Given the description of an element on the screen output the (x, y) to click on. 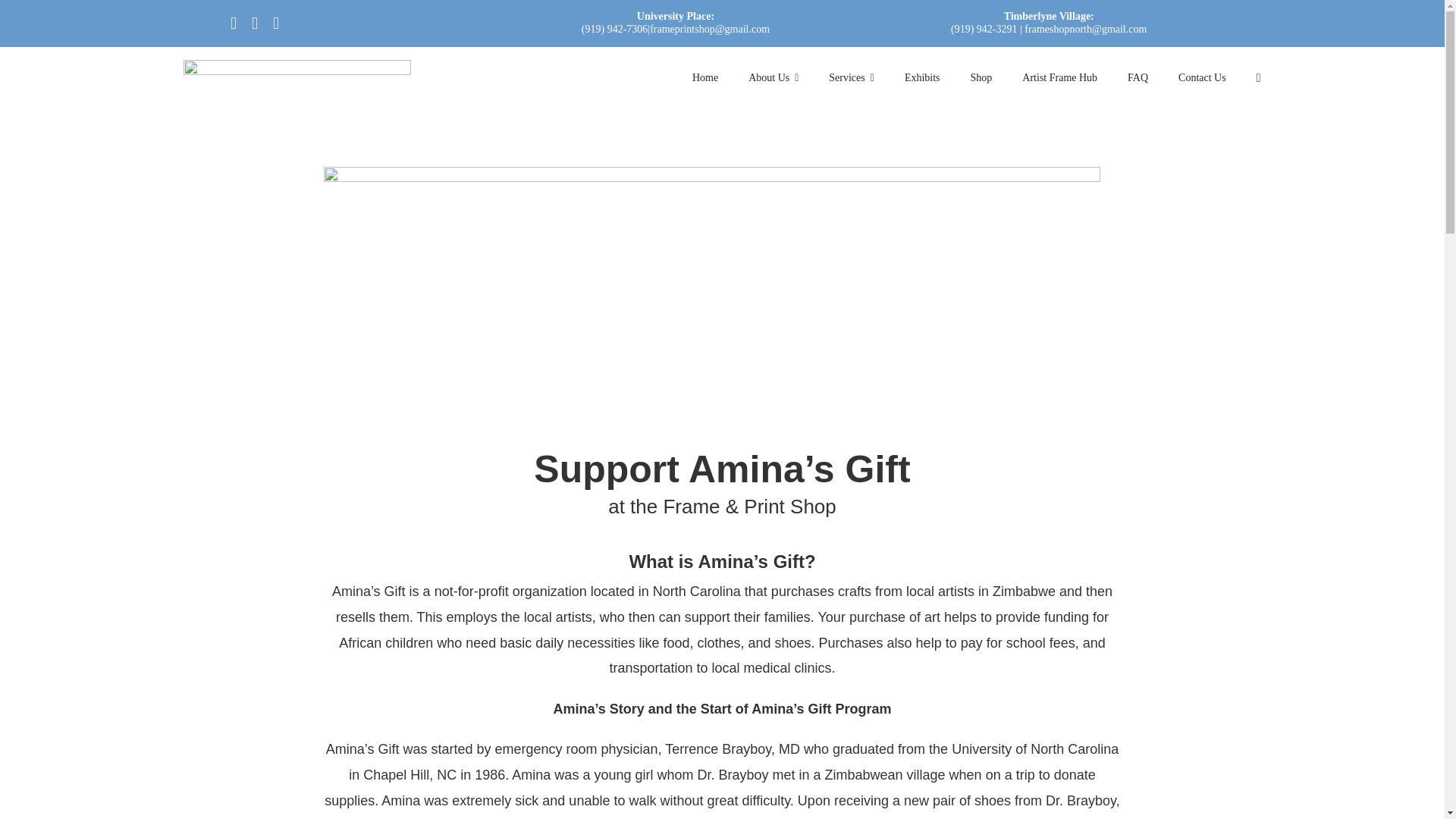
Artist Frame Hub (1059, 78)
Contact Us (1201, 78)
Home (705, 78)
Exhibits (922, 78)
FAQ (1137, 78)
Services (851, 78)
About Us (772, 78)
Shop (981, 78)
